Given the description of an element on the screen output the (x, y) to click on. 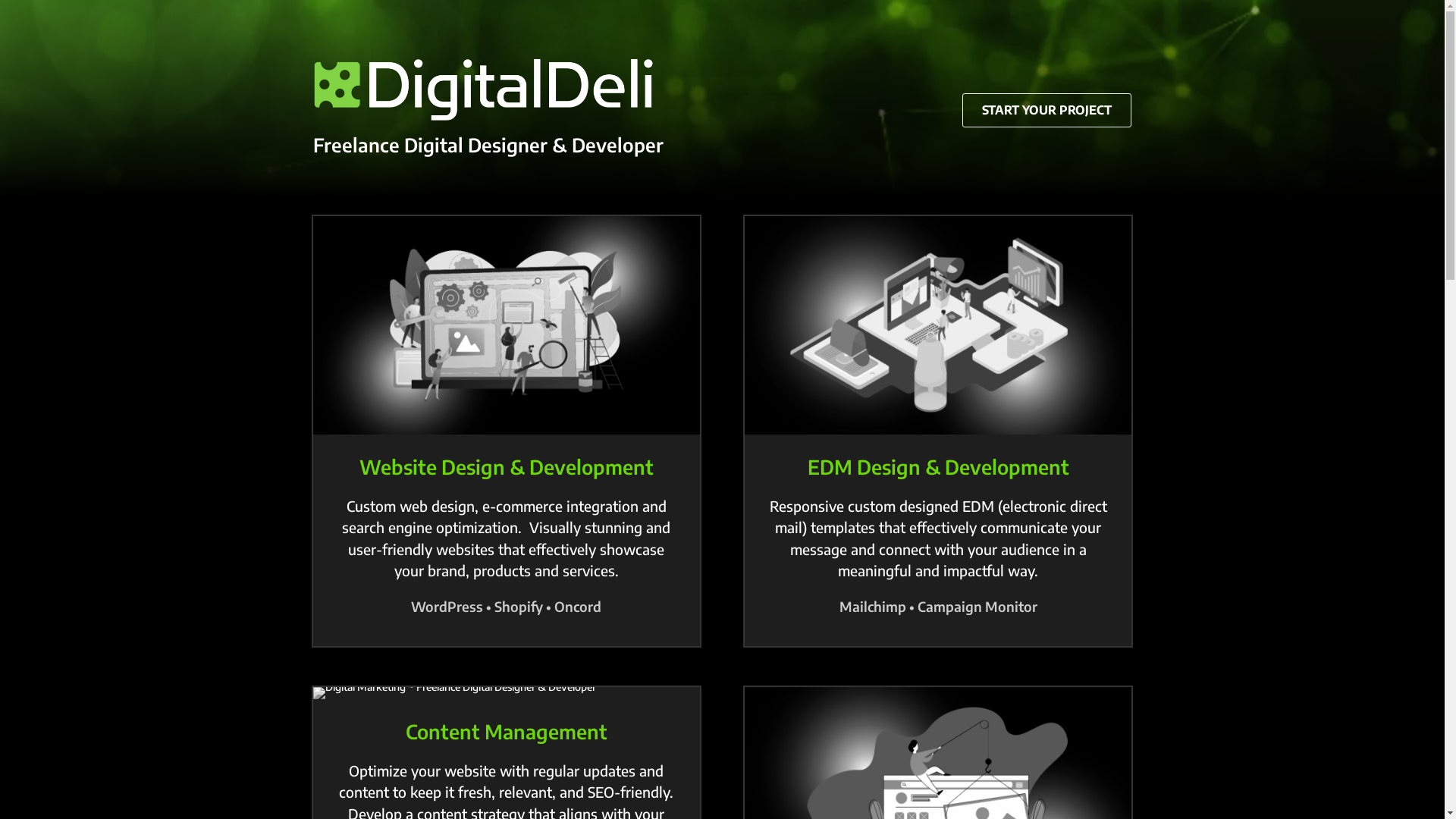
Digital Deli Element type: hover (489, 89)
START YOUR PROJECT Element type: text (1046, 110)
